Given the description of an element on the screen output the (x, y) to click on. 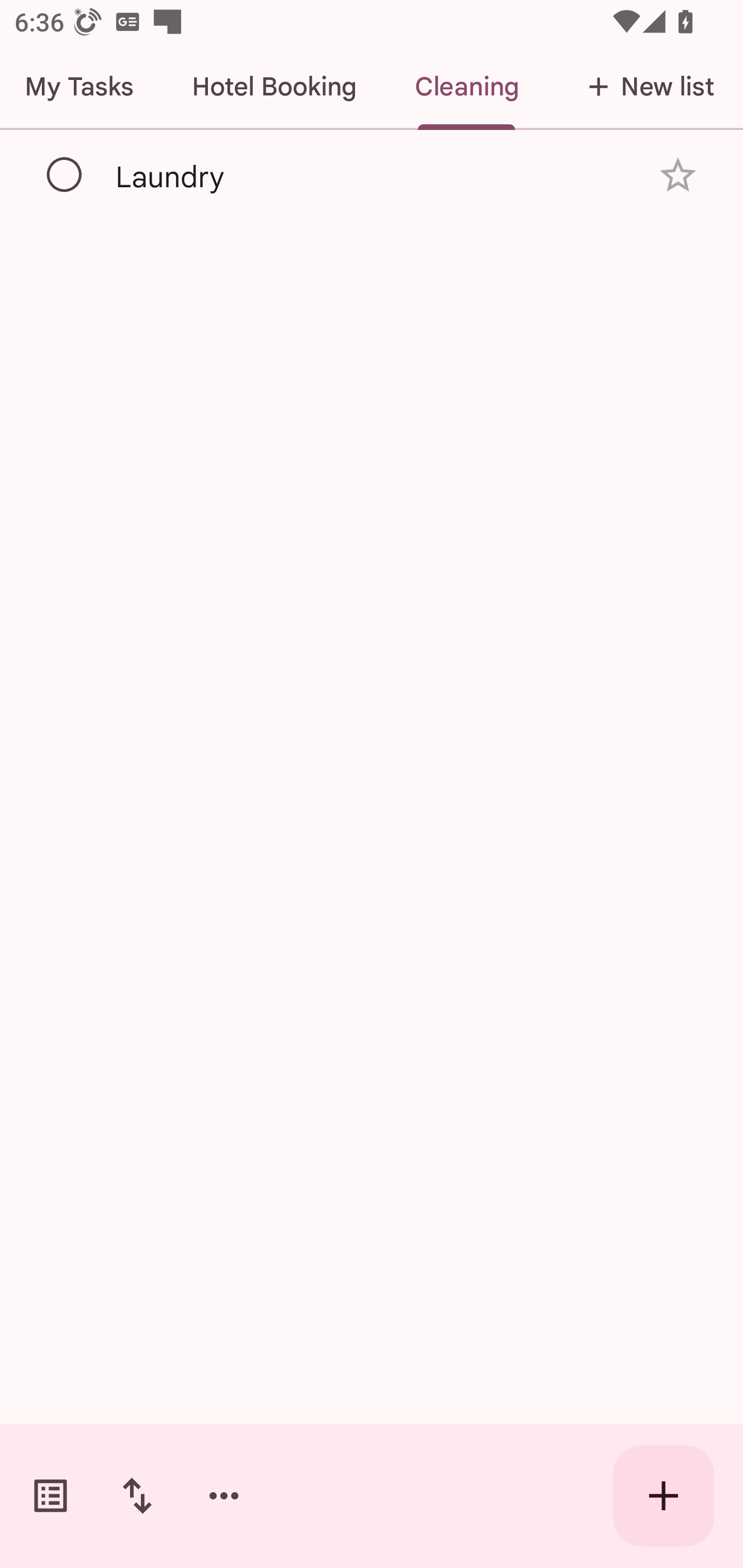
My Tasks (81, 86)
Hotel Booking (273, 86)
New list (645, 86)
Laundry Laundry Add star Mark as complete (371, 173)
Add star (677, 174)
Mark as complete (64, 175)
Switch task lists (50, 1495)
Create new task (663, 1495)
Change sort order (136, 1495)
More options (223, 1495)
